Given the description of an element on the screen output the (x, y) to click on. 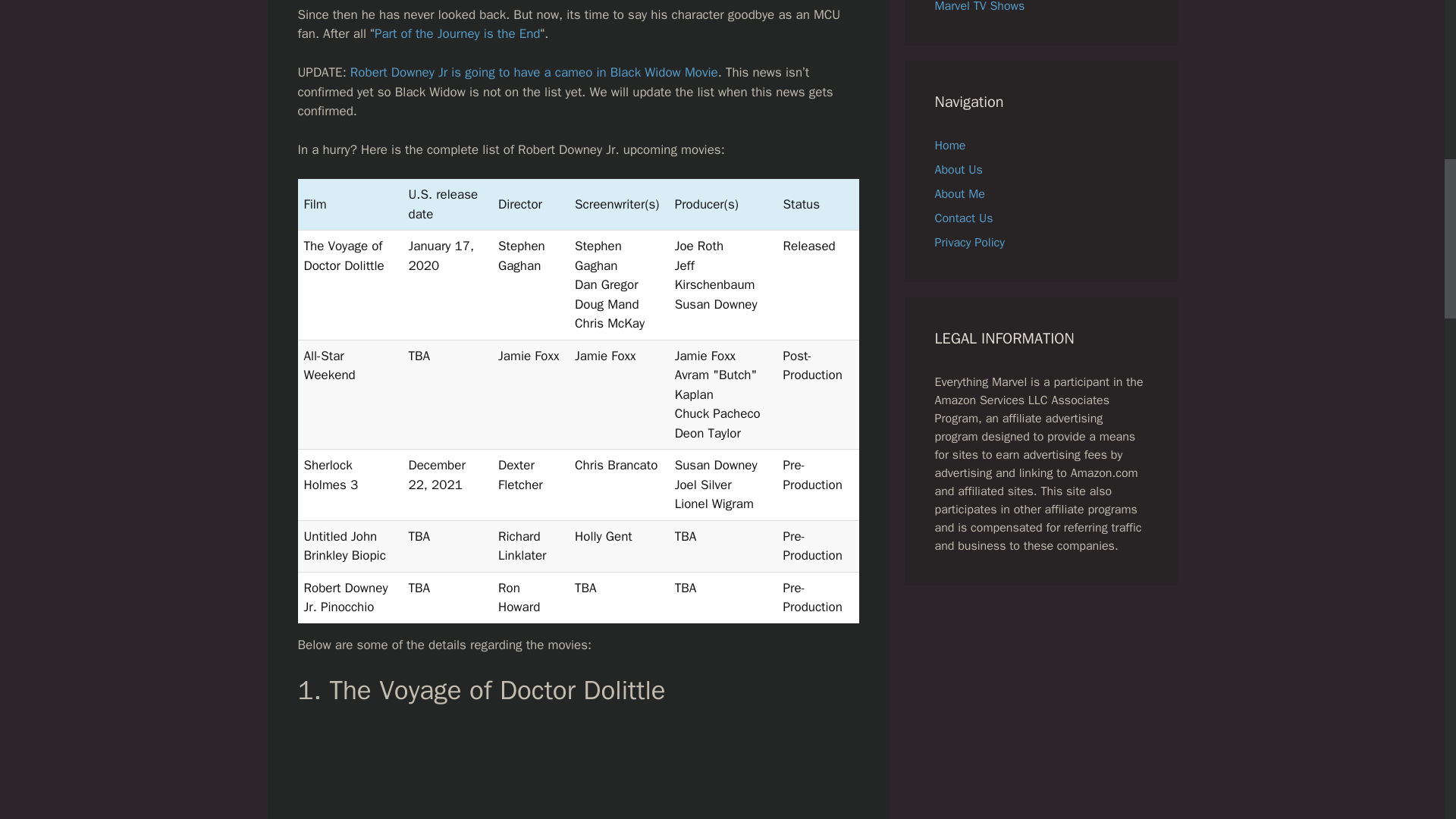
About Us (957, 169)
About Me (959, 193)
Privacy Policy (969, 242)
Marvel TV Shows (979, 6)
Home (949, 145)
Part of the Journey is the End (457, 33)
Contact Us (963, 218)
